Given the description of an element on the screen output the (x, y) to click on. 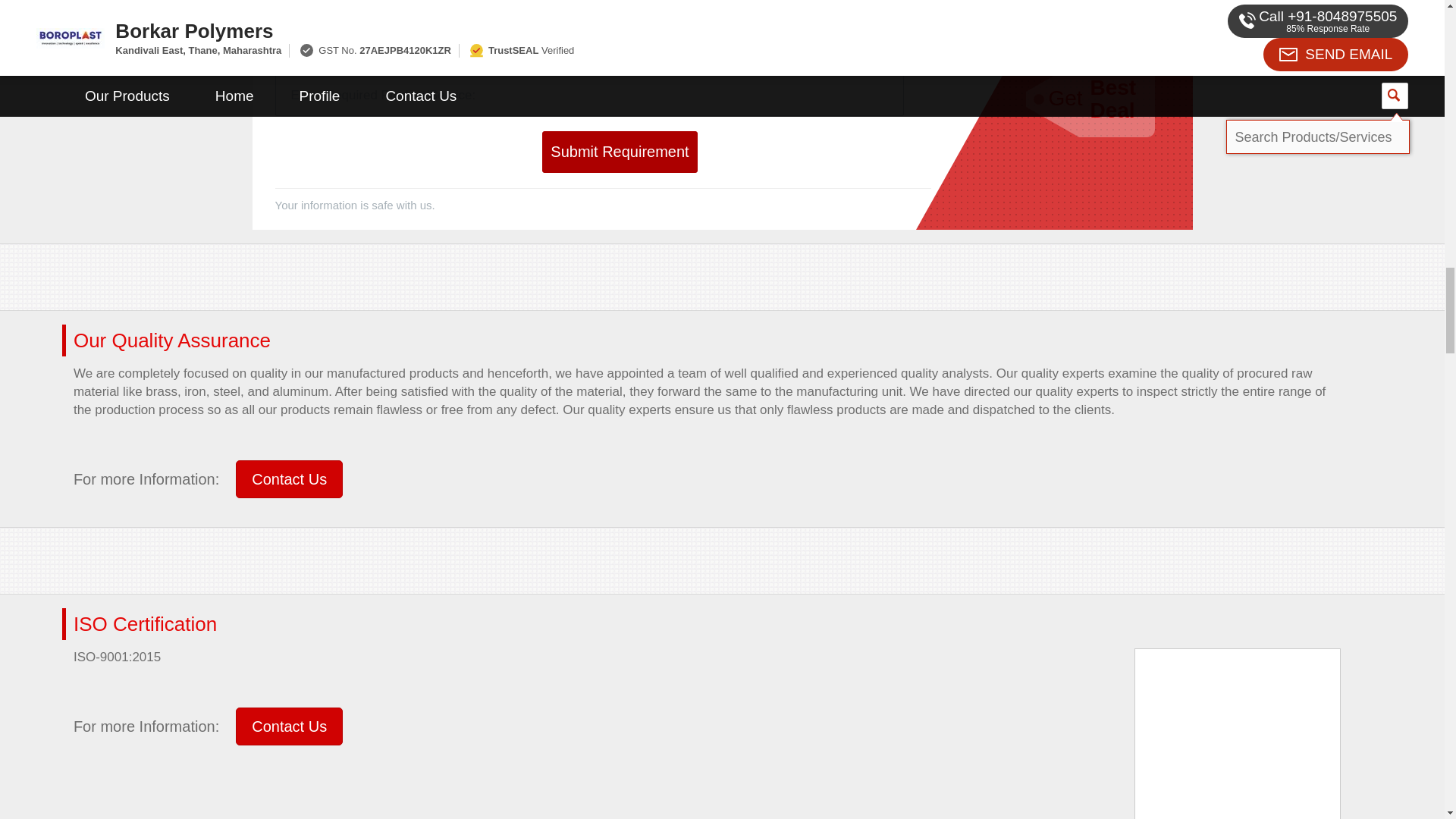
Submit Requirement (619, 151)
Submit Requirement (619, 151)
Enter your number: (430, 37)
Enter your name: (748, 37)
